Given the description of an element on the screen output the (x, y) to click on. 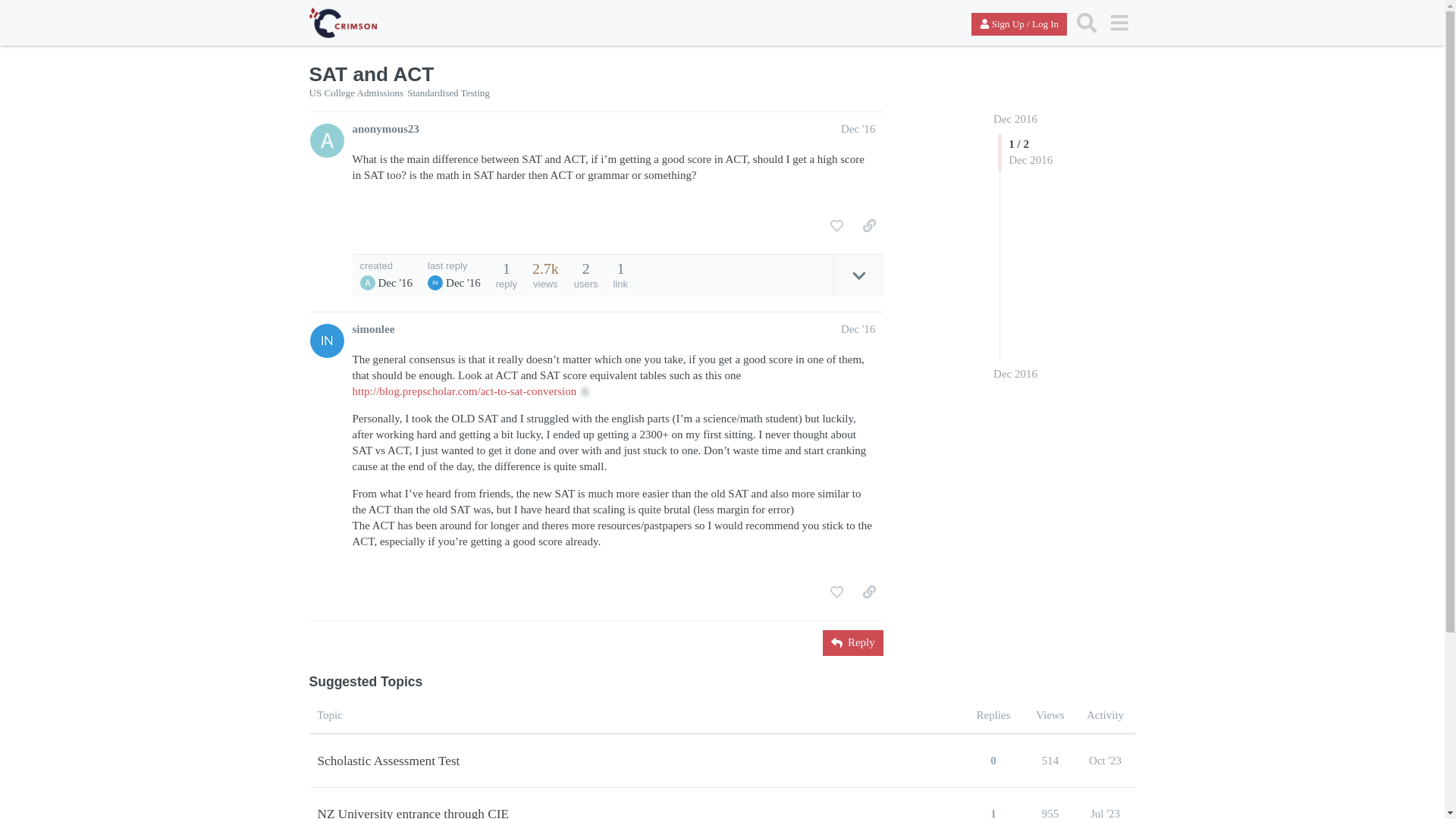
Dec 2016 (1014, 374)
Post date (858, 328)
last reply (454, 266)
Jul '23 (1105, 807)
Scholastic Assessment Test (388, 760)
2687 (545, 268)
Reply (852, 642)
Oct '23 (1104, 760)
Dec 2016 (1014, 119)
richasianboy (435, 282)
NZ University entrance through CIE (412, 807)
US College Admissions (356, 92)
Dec '16 (858, 128)
expand topic details (857, 275)
share a link to this post (869, 225)
